Given the description of an element on the screen output the (x, y) to click on. 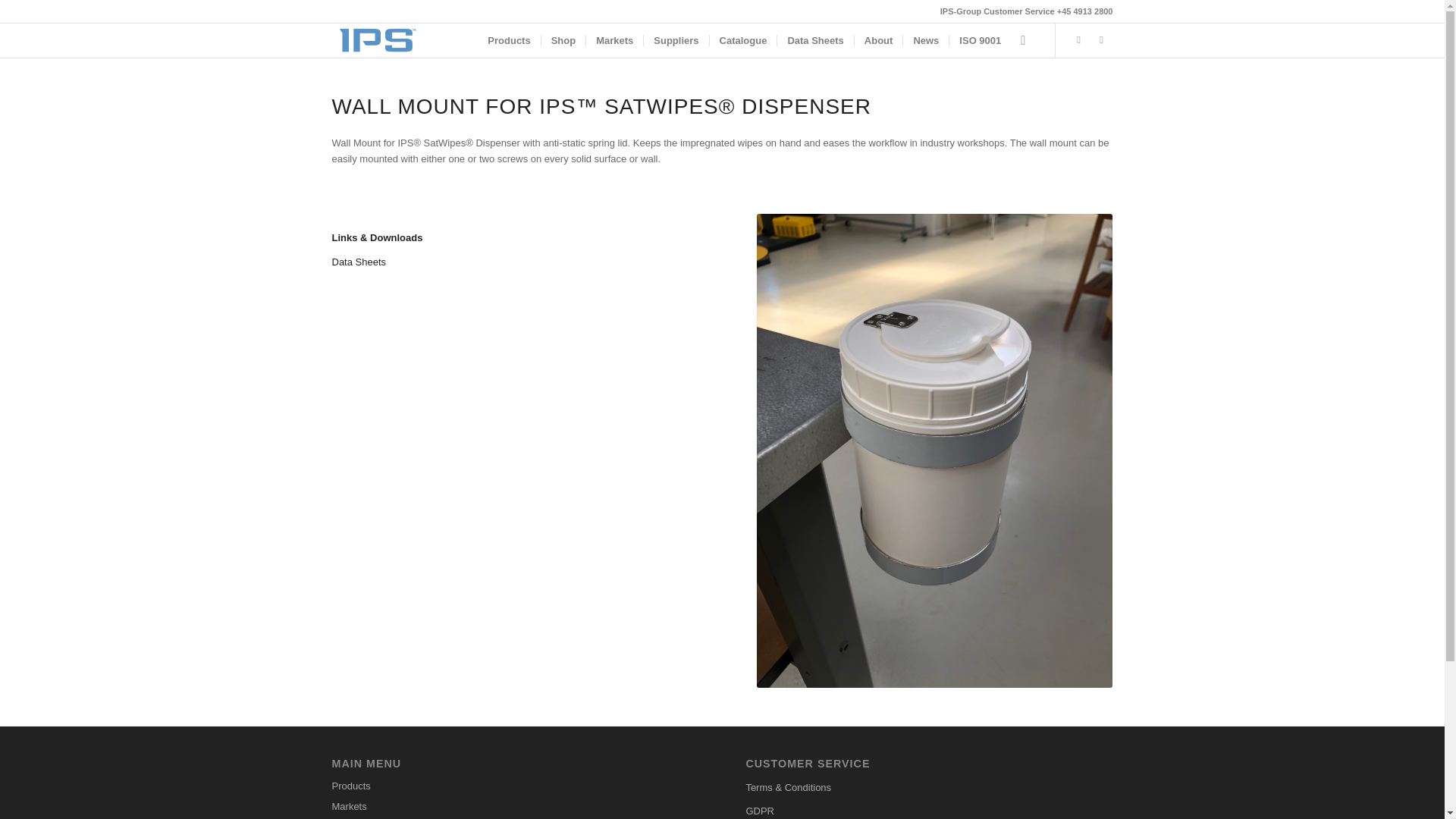
Facebook (1101, 39)
Catalogue (743, 40)
ISO 9001 (979, 40)
Data Sheets (359, 261)
LinkedIn (1078, 39)
Markets (614, 40)
News (925, 40)
Markets (514, 806)
Products (514, 786)
Shop (563, 40)
About (877, 40)
Suppliers (675, 40)
Products (508, 40)
Data Sheets (814, 40)
